Given the description of an element on the screen output the (x, y) to click on. 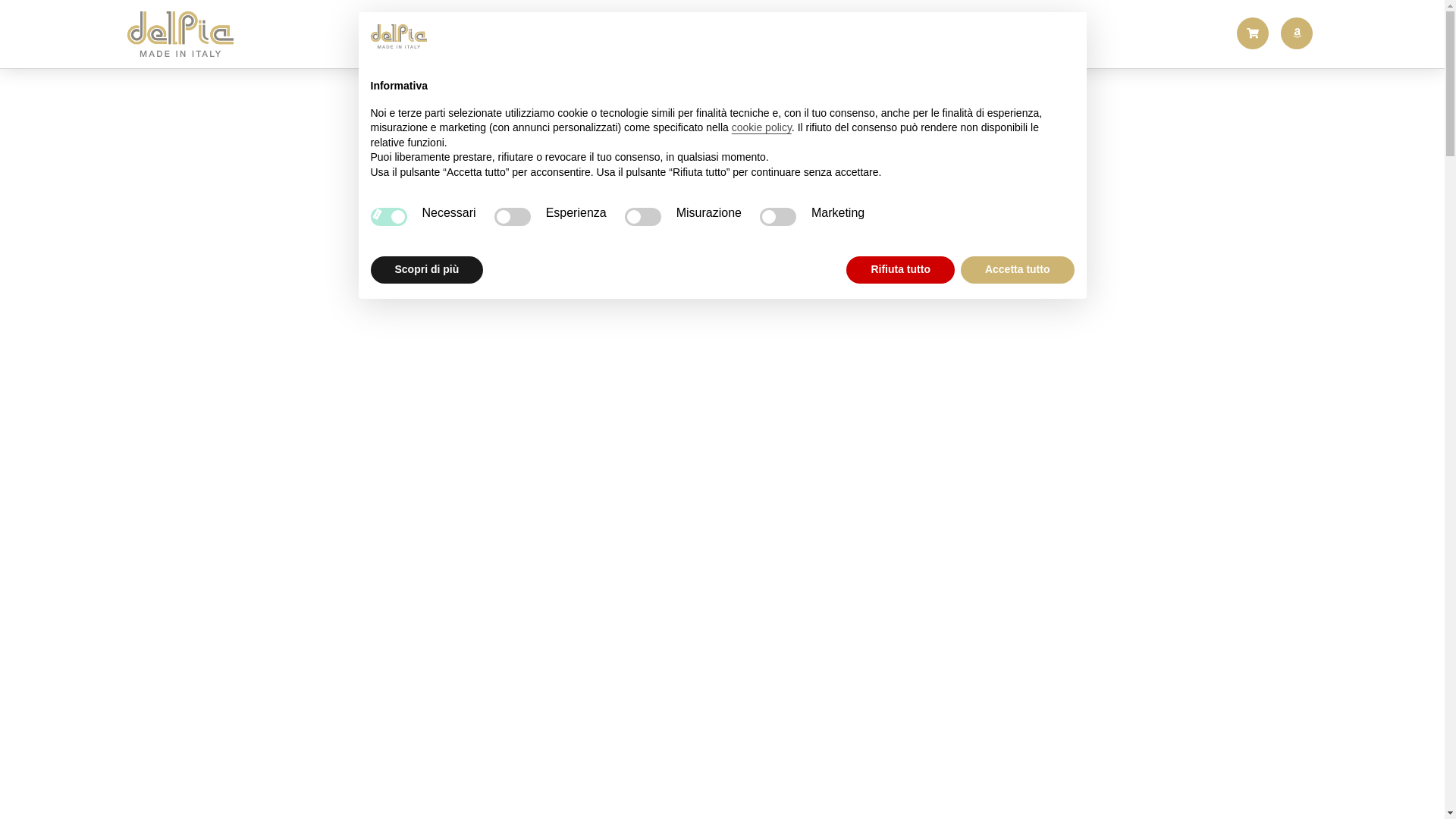
CONTATTI Element type: text (896, 34)
INNOVAZIONE Element type: text (747, 34)
PRODOTTI Element type: text (650, 34)
Accetta tutto Element type: text (1017, 269)
cookie policy Element type: text (761, 127)
AZIENDA Element type: text (567, 34)
Rifiuta tutto Element type: text (900, 269)
IT/ENG Element type: text (980, 34)
SHOP Element type: text (824, 34)
